Given the description of an element on the screen output the (x, y) to click on. 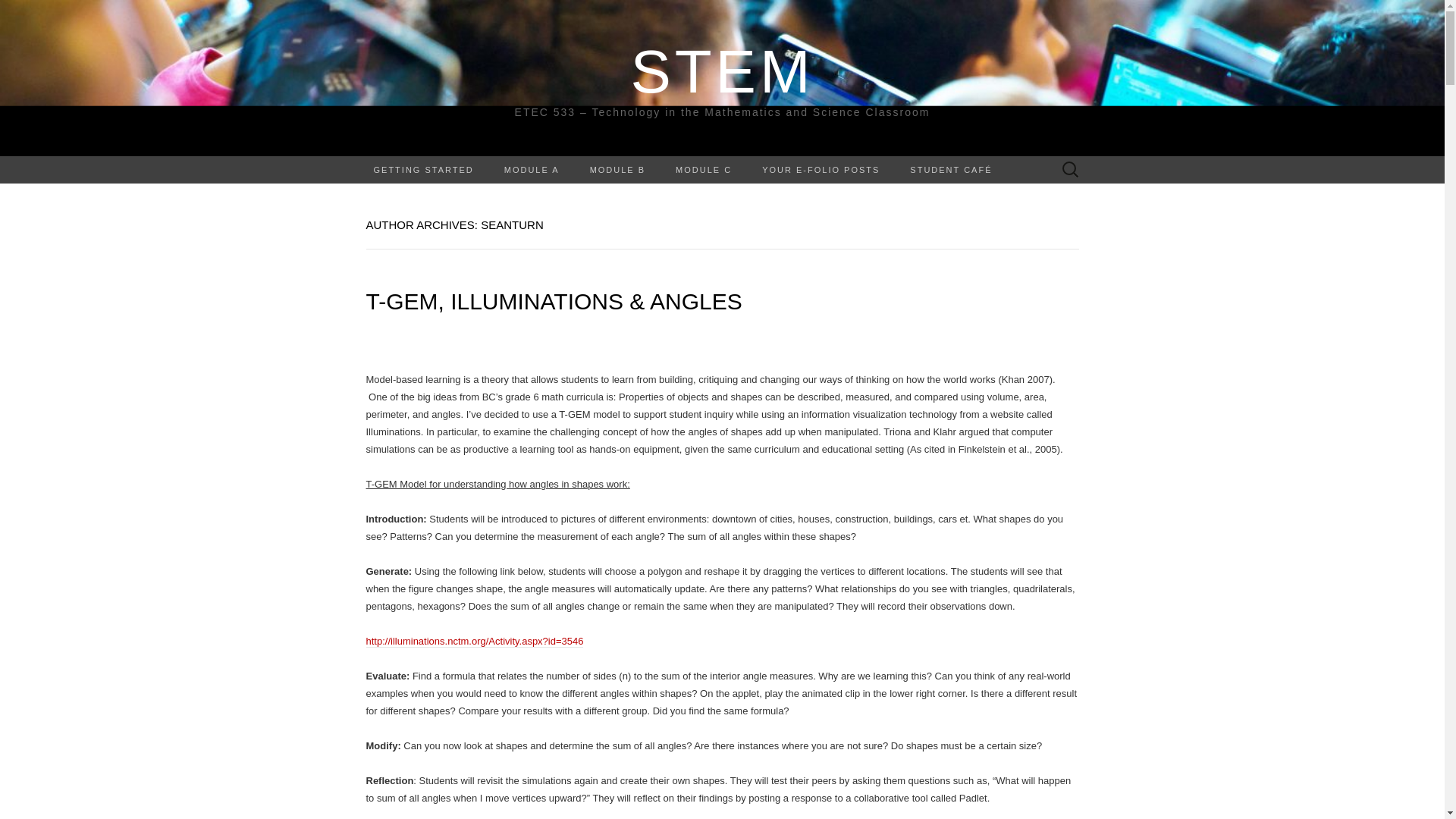
YOUR E-FOLIO POSTS (820, 169)
STEM (721, 71)
MODULE B (618, 169)
Search (16, 12)
GETTING STARTED (422, 169)
MODULE C (703, 169)
STEM (721, 71)
MODULE A (532, 169)
